Given the description of an element on the screen output the (x, y) to click on. 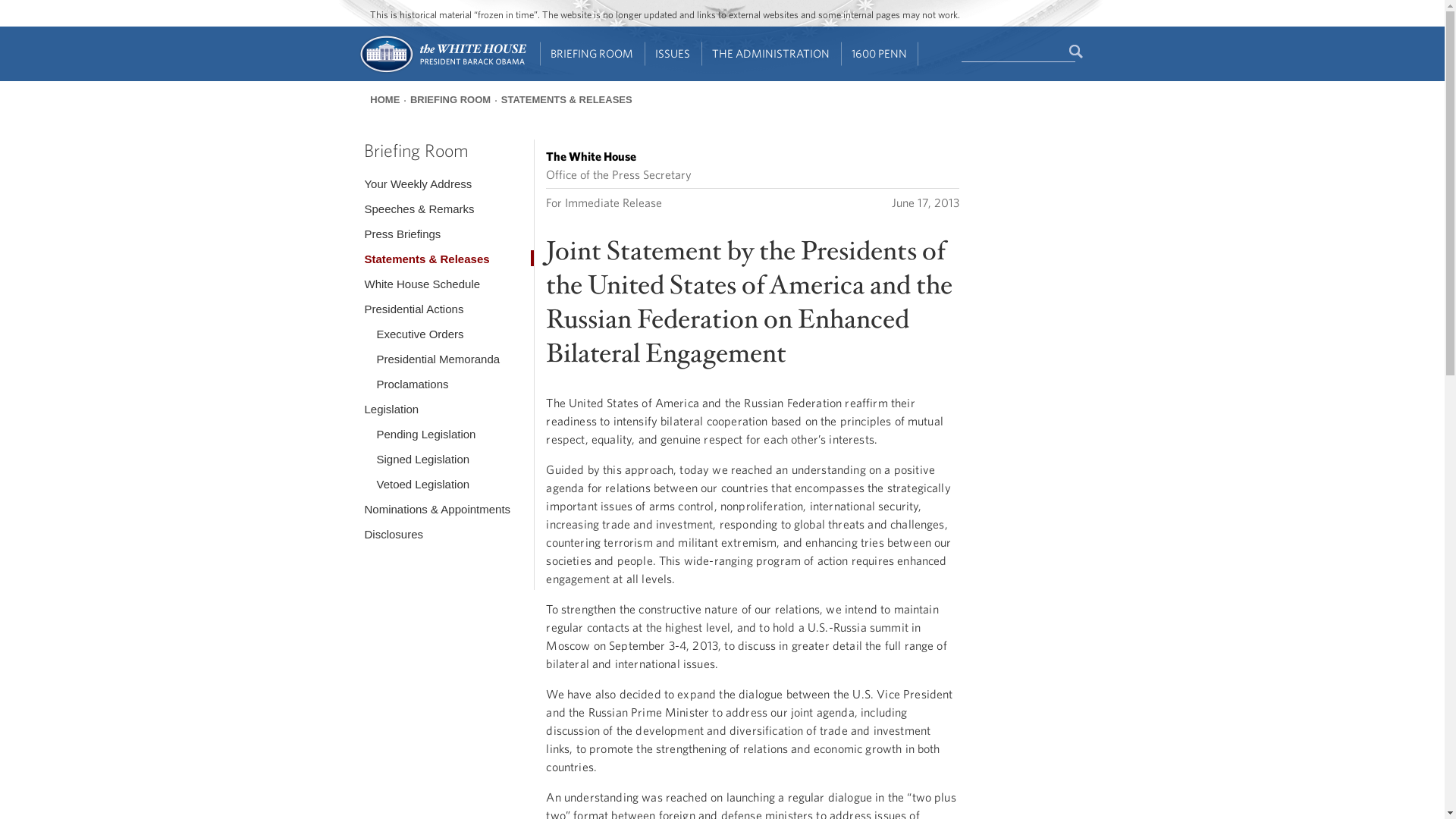
BRIEFING ROOM (592, 53)
Search (1076, 51)
Home (441, 70)
ISSUES (673, 53)
Enter the terms you wish to search for. (1017, 52)
